Given the description of an element on the screen output the (x, y) to click on. 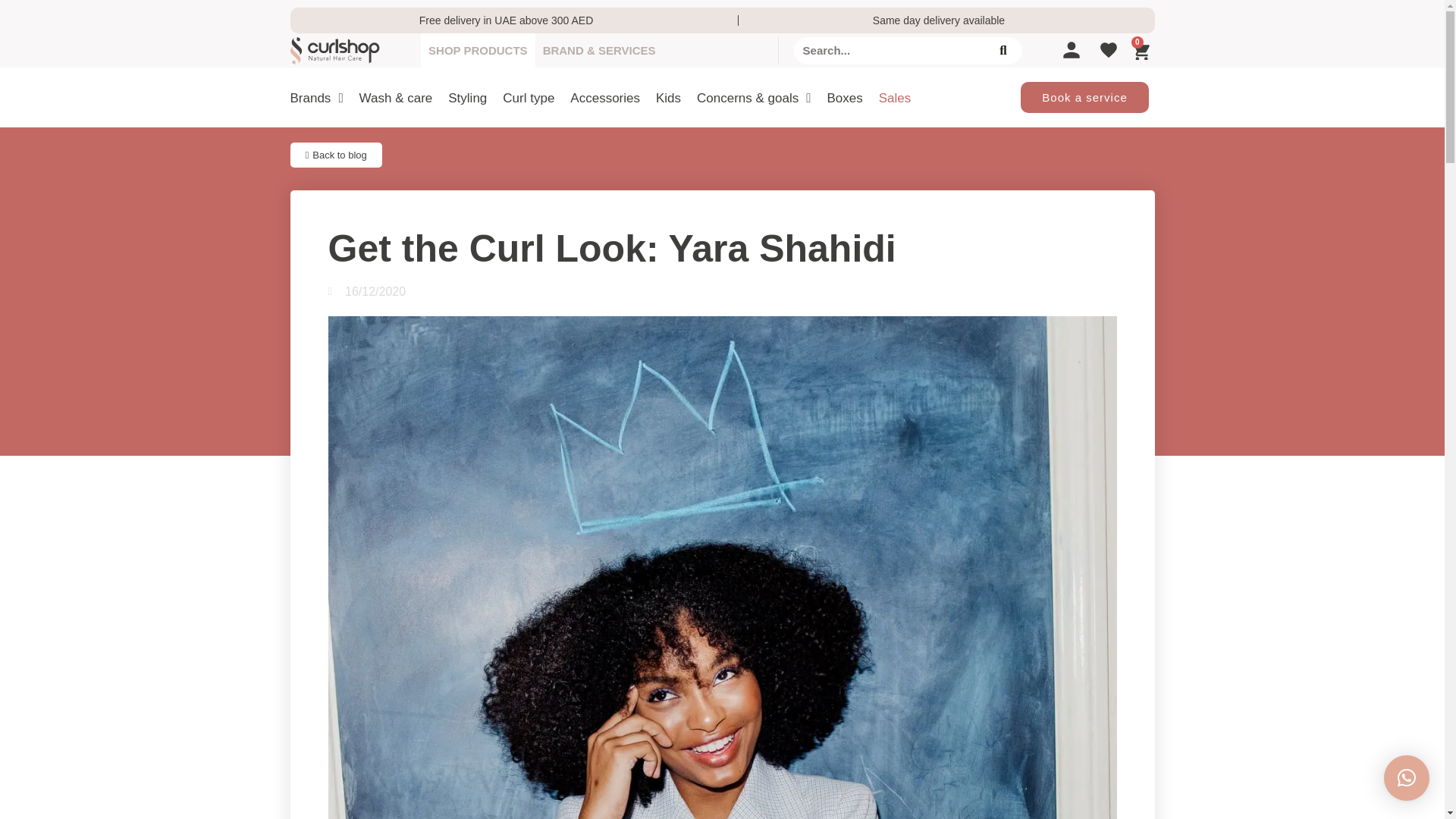
SHOP PRODUCTS (477, 50)
Accessories (605, 98)
Styling (467, 98)
Curl type (528, 98)
Brands (315, 98)
